Given the description of an element on the screen output the (x, y) to click on. 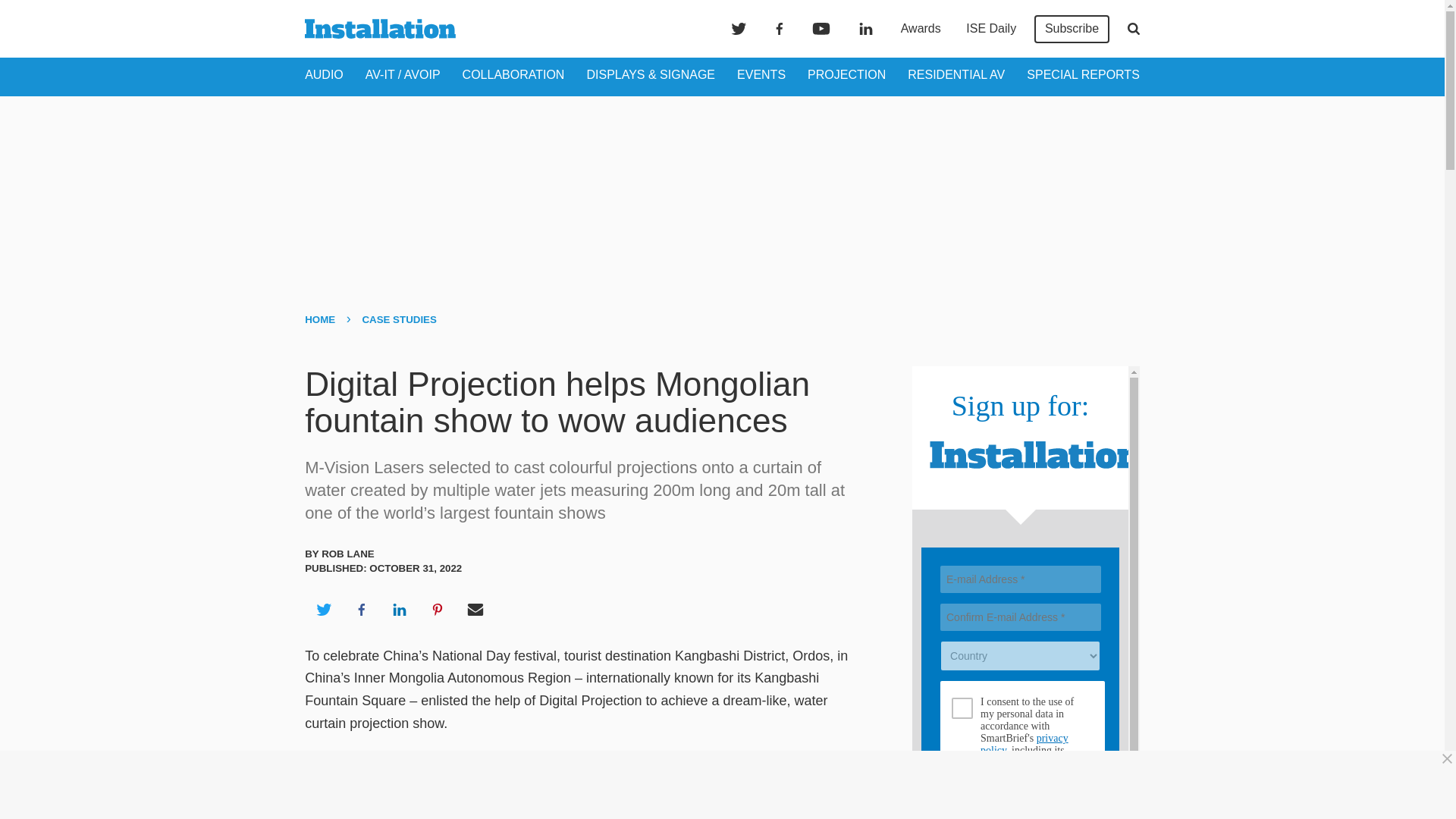
AUDIO (323, 74)
Subscribe (1071, 29)
ISE Daily (990, 29)
Share via Email (476, 609)
Rob Lane's Author Profile (347, 553)
Awards (921, 29)
Share on Twitter (323, 609)
Share on Pinterest (438, 609)
Share on LinkedIn (399, 609)
COLLABORATION (513, 74)
Share on Facebook (361, 609)
